Given the description of an element on the screen output the (x, y) to click on. 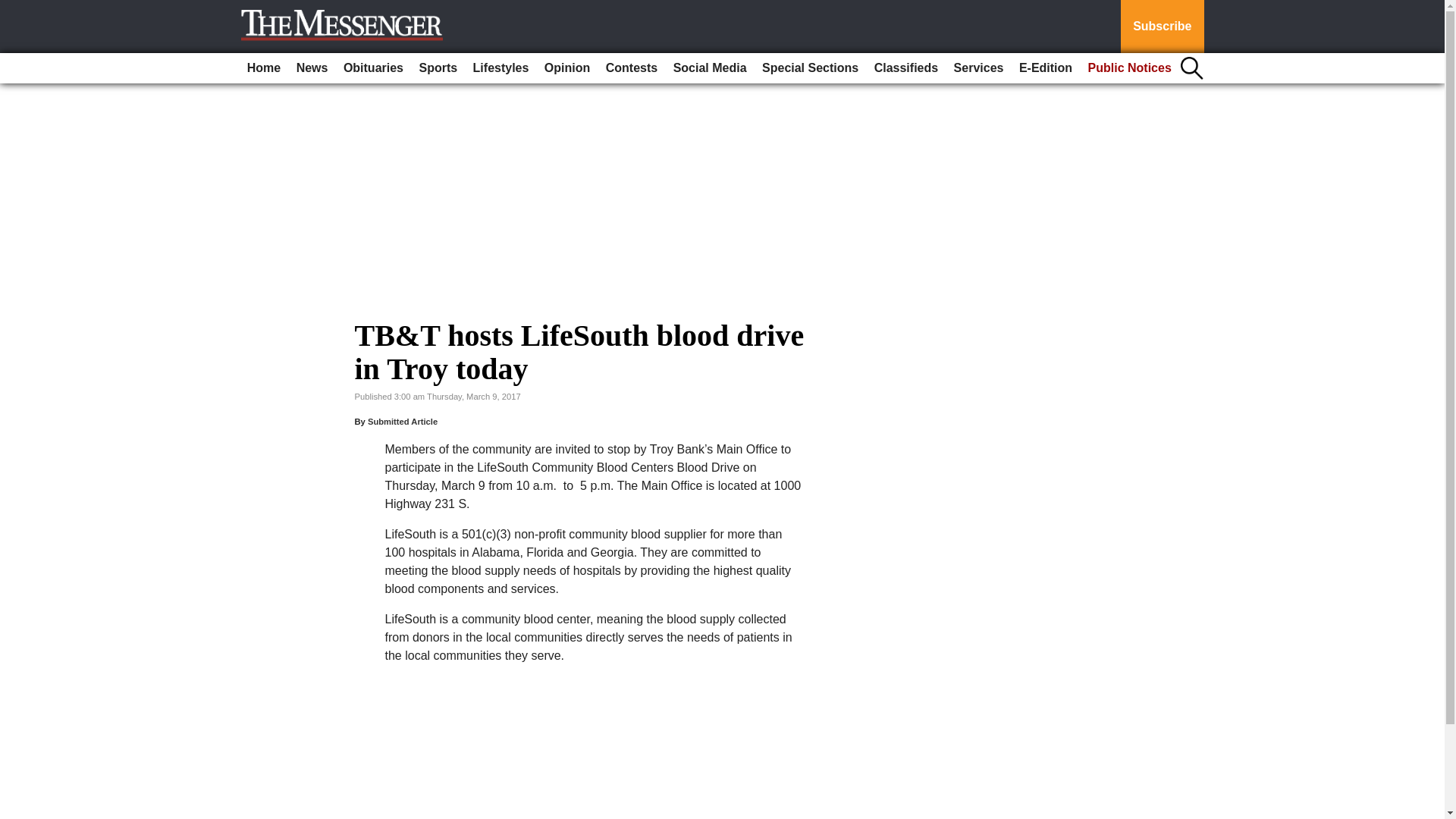
Classifieds (905, 68)
Lifestyles (501, 68)
News (311, 68)
Contests (631, 68)
Special Sections (809, 68)
Public Notices (1129, 68)
Obituaries (373, 68)
Sports (437, 68)
Subscribe (1162, 26)
Opinion (566, 68)
